Given the description of an element on the screen output the (x, y) to click on. 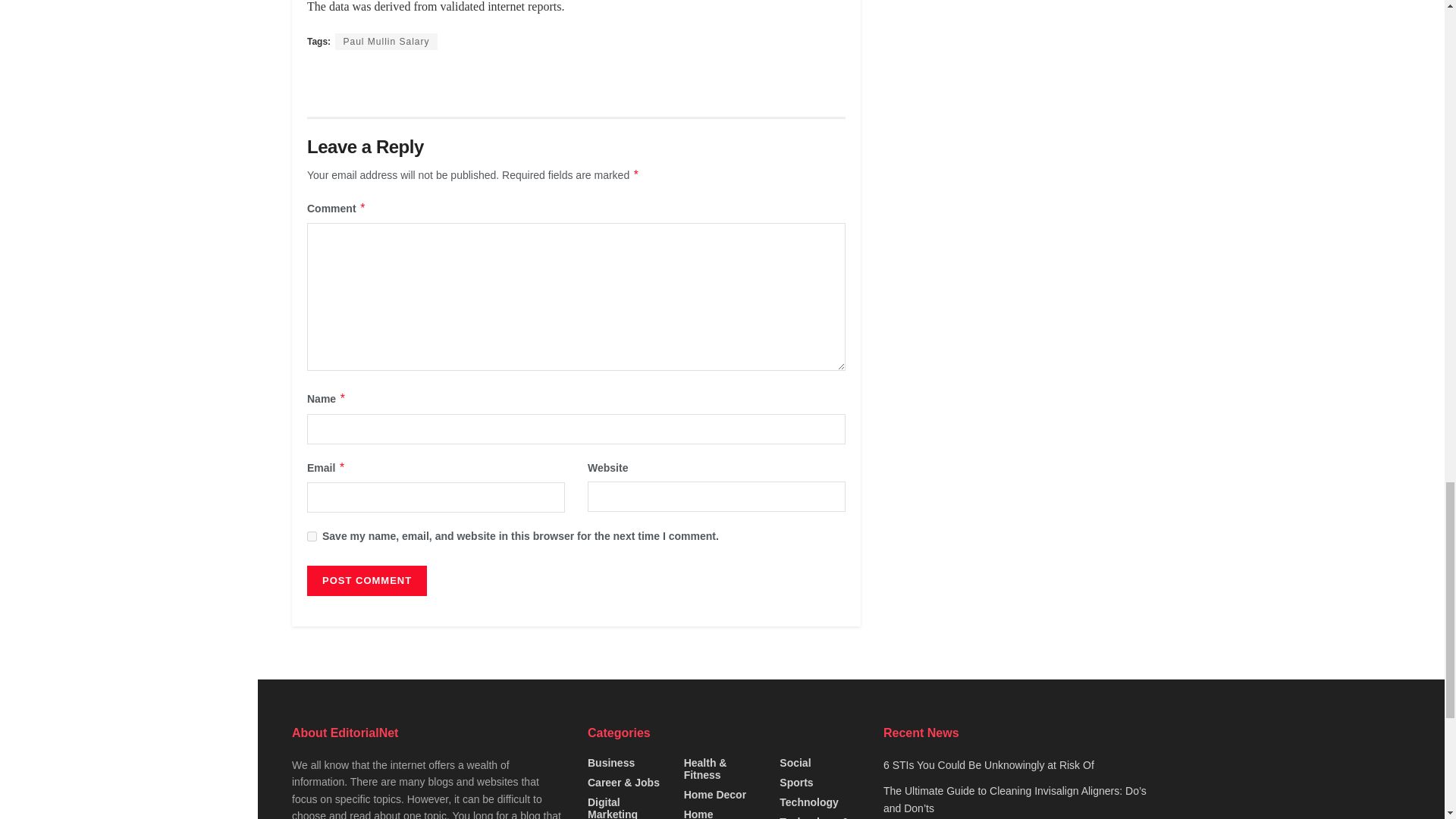
yes (312, 536)
Post Comment (366, 580)
